Given the description of an element on the screen output the (x, y) to click on. 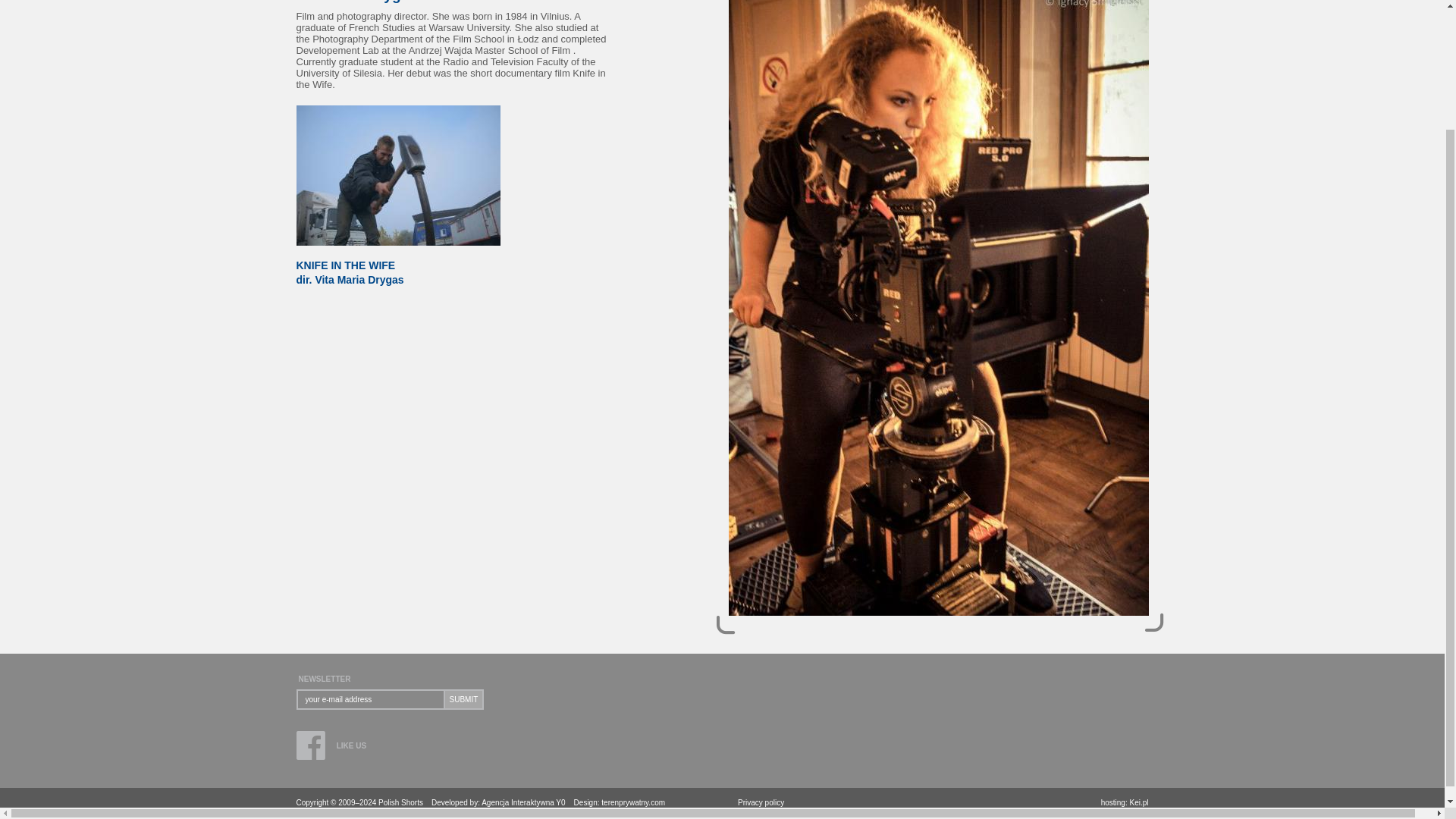
Agencja Interaktywna Y0 (522, 802)
LIKE US (344, 745)
terenprywatny.com (397, 264)
Kei.pl (633, 802)
SUBMIT (1138, 802)
